Given the description of an element on the screen output the (x, y) to click on. 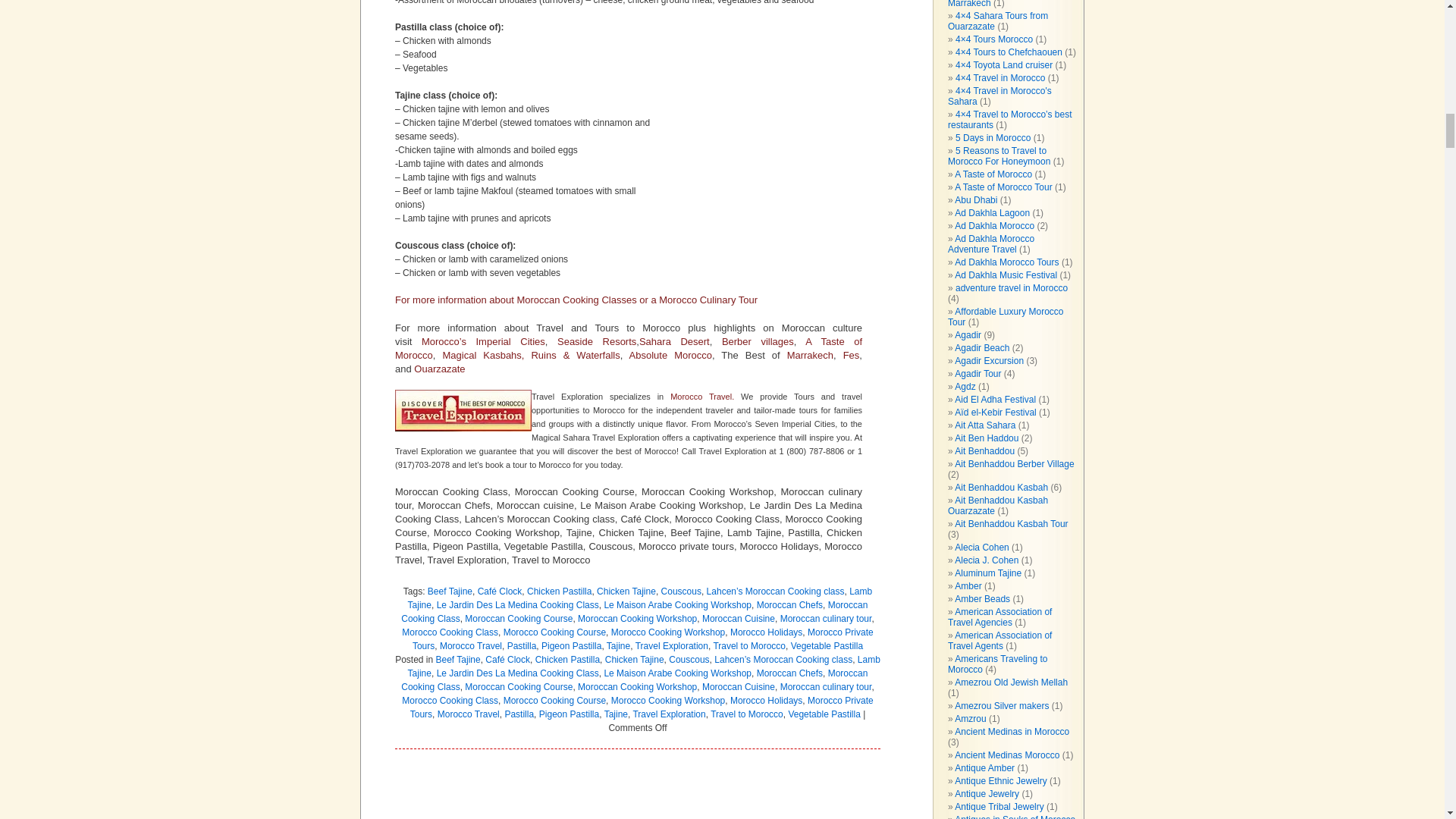
Seaside Resorts (596, 341)
Sahara Desert (674, 341)
travel-exploration-signature-logo-link13 (462, 410)
